Given the description of an element on the screen output the (x, y) to click on. 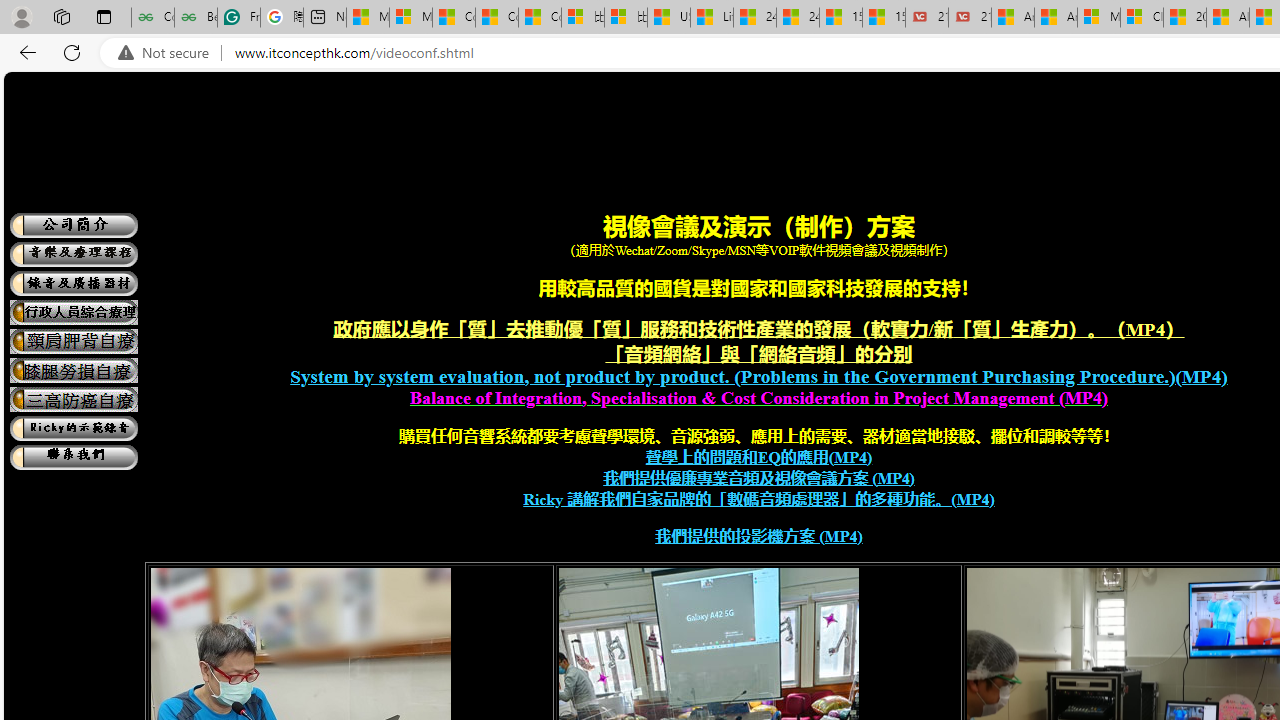
15 Ways Modern Life Contradicts the Teachings of Jesus (883, 17)
Lifestyle - MSN (712, 17)
